Given the description of an element on the screen output the (x, y) to click on. 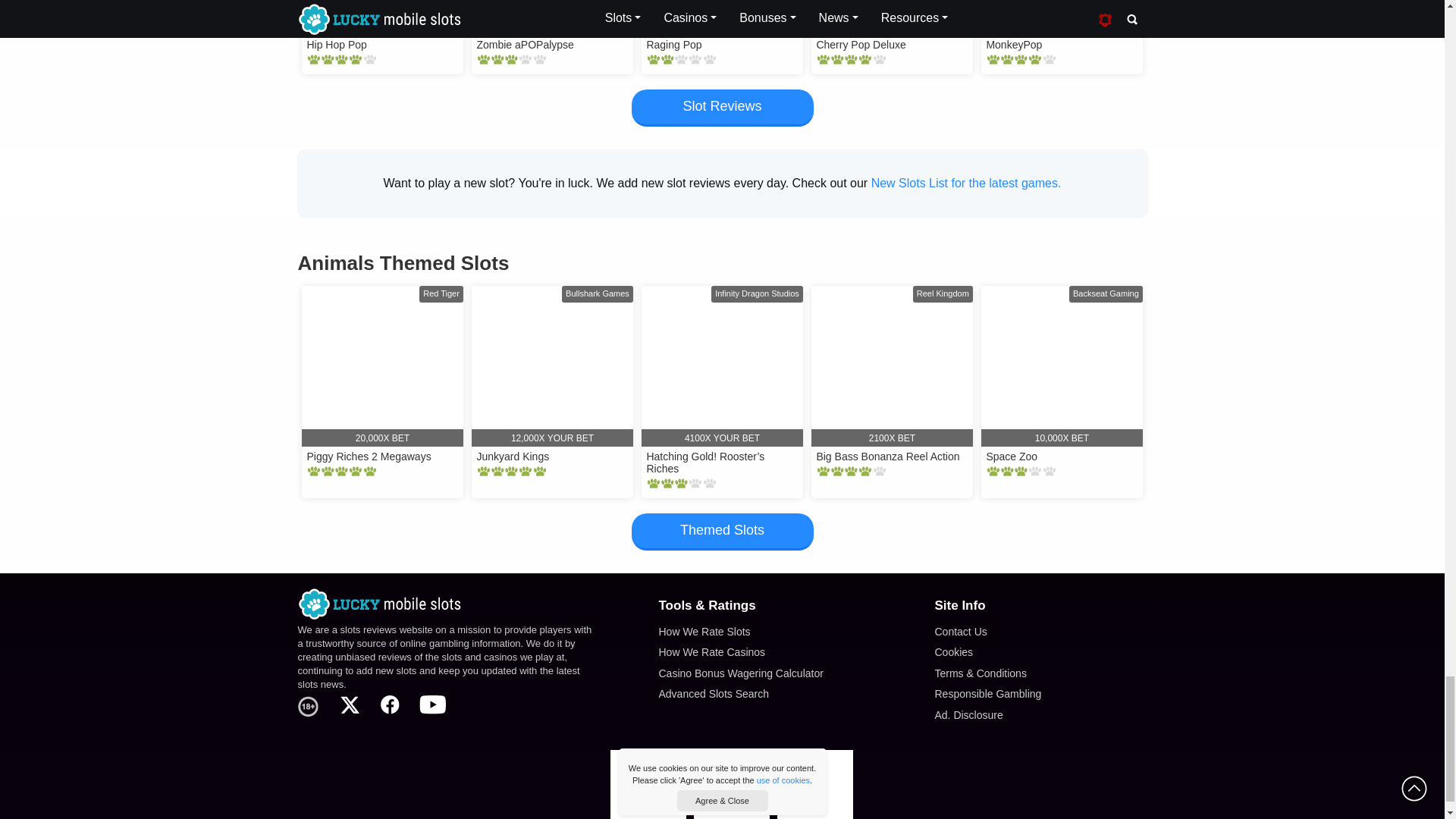
Home of Lucky Mobile Slots (445, 603)
